Given the description of an element on the screen output the (x, y) to click on. 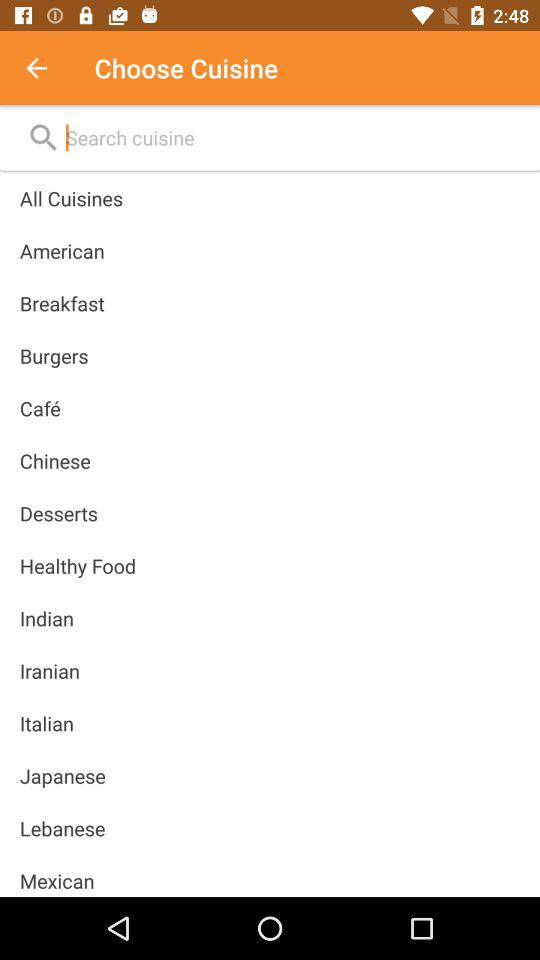
click item below the american item (61, 303)
